Given the description of an element on the screen output the (x, y) to click on. 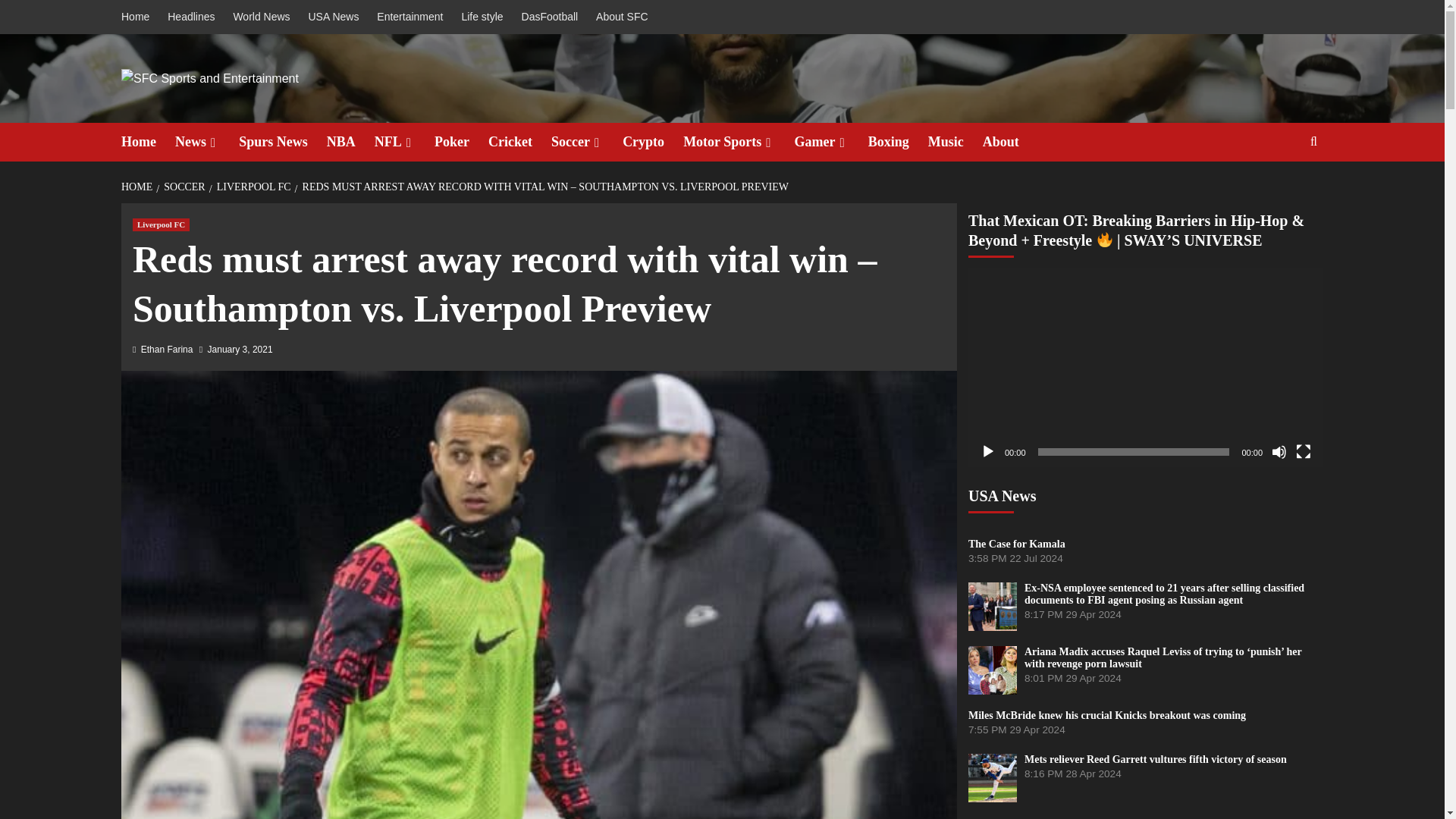
Play (987, 451)
Home (147, 141)
Life style (481, 17)
NBA (350, 141)
Headlines (191, 17)
USA News (332, 17)
Soccer (587, 141)
Mute (1279, 451)
Spurs News (282, 141)
Entertainment (409, 17)
Cricket (519, 141)
DasFootball (549, 17)
Poker (460, 141)
About SFC (621, 17)
News (206, 141)
